Given the description of an element on the screen output the (x, y) to click on. 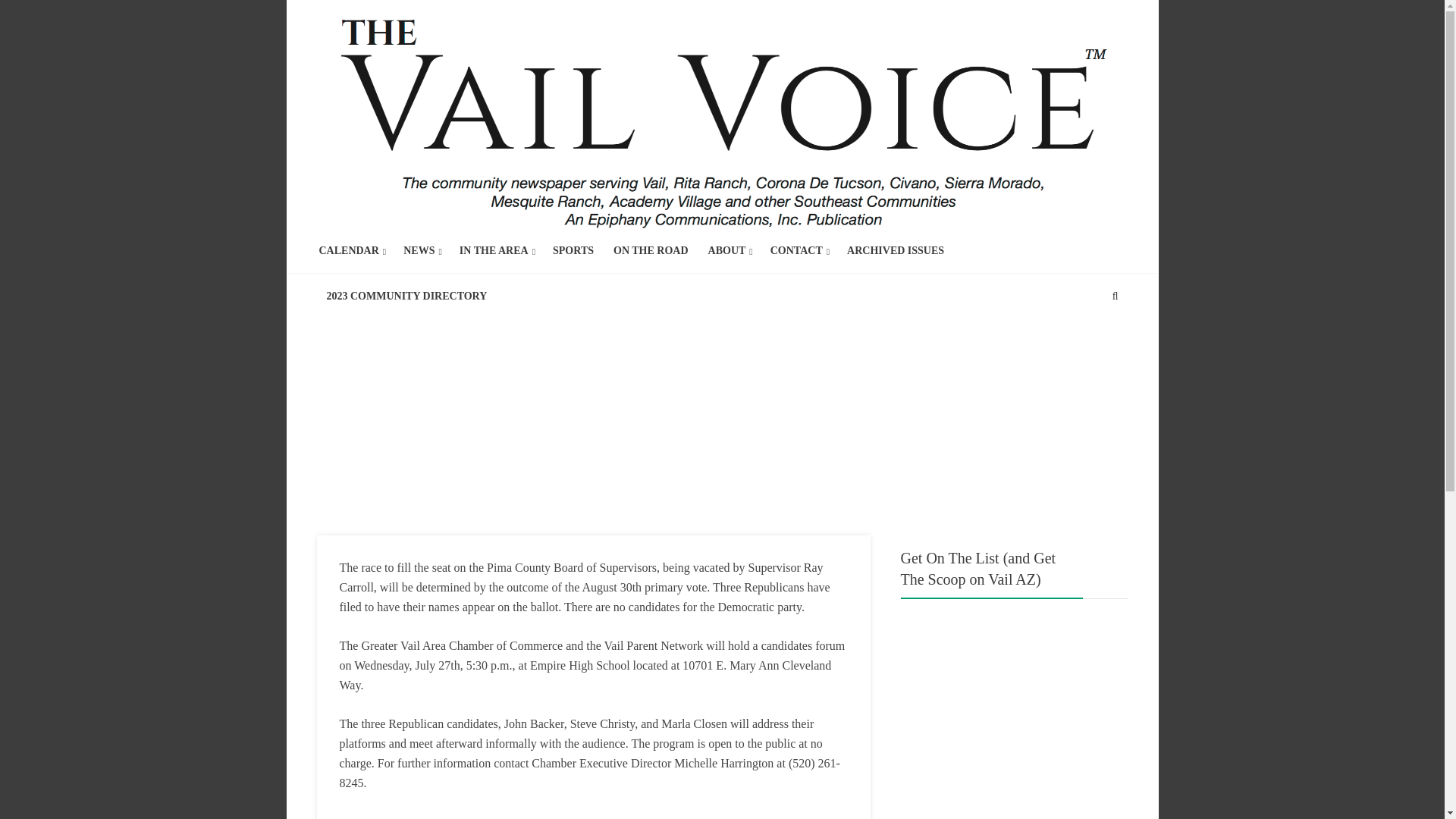
IN THE AREA (494, 250)
SPORTS (572, 250)
ABOUT (727, 250)
ARCHIVED ISSUES (895, 250)
CALENDAR (349, 250)
The Vail Voice (722, 116)
ON THE ROAD (650, 250)
2023 COMMUNITY DIRECTORY (406, 296)
CONTACT (796, 250)
